Given the description of an element on the screen output the (x, y) to click on. 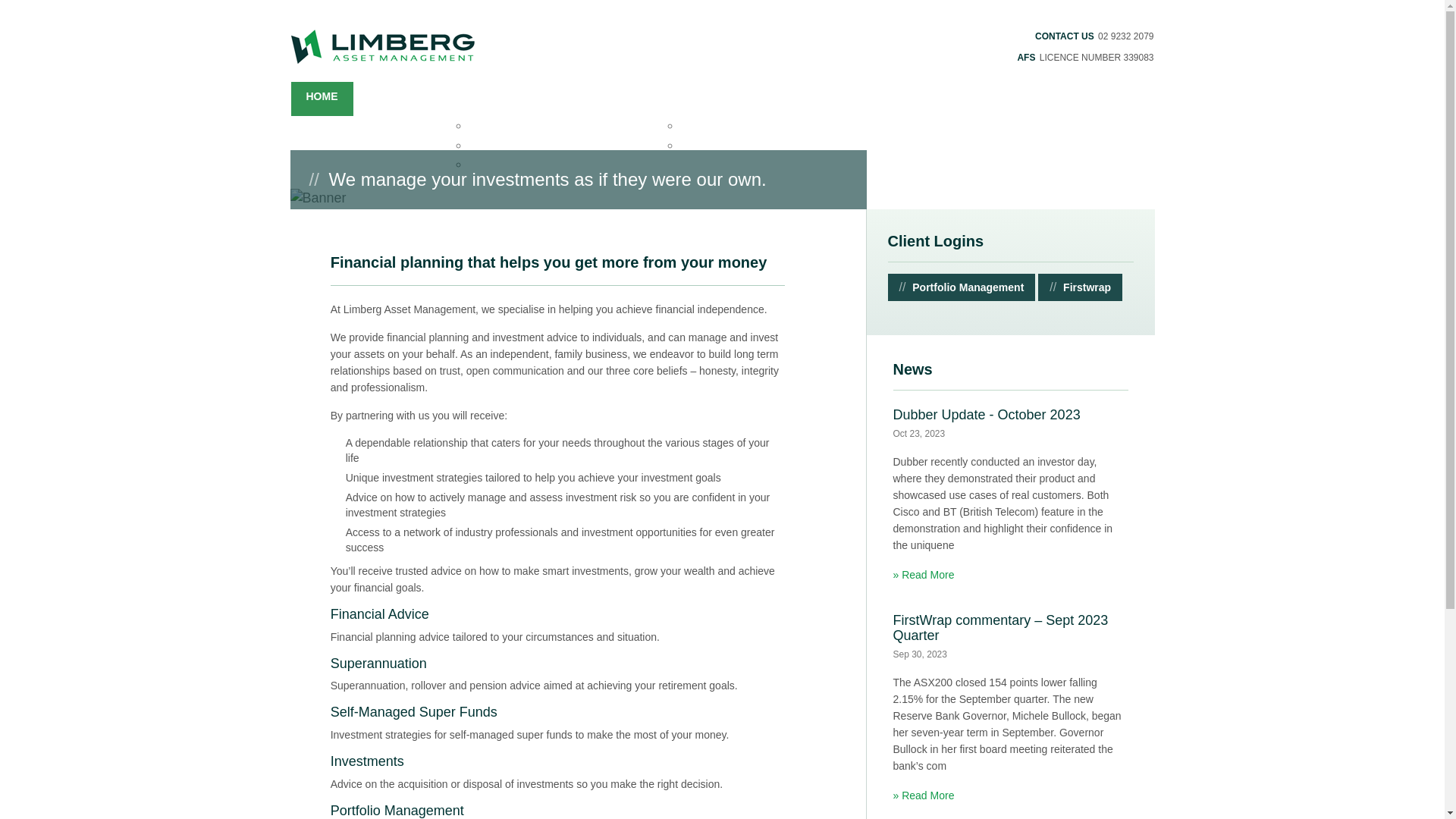
CLIENT LOGIN Element type: text (736, 98)
// Portfolio Management Element type: text (961, 287)
DOCUMENTS Element type: text (545, 98)
MDA AGREEMENT Element type: text (516, 145)
Dubber Update - October 2023 Element type: text (1010, 423)
CONTACT US Element type: text (872, 98)
02 9232 2079 Element type: text (1125, 36)
AUDIT REPORTS Element type: text (512, 164)
HOME Element type: text (322, 98)
PORTFOLIO MANAGEMENT Element type: text (751, 145)
FINANCIAL SERVICES GUIDE (FSG) Element type: text (560, 125)
// Firstwrap Element type: text (1080, 287)
ABOUT US Element type: text (396, 98)
FIRSTWRAP LOGIN Element type: text (730, 125)
